Given the description of an element on the screen output the (x, y) to click on. 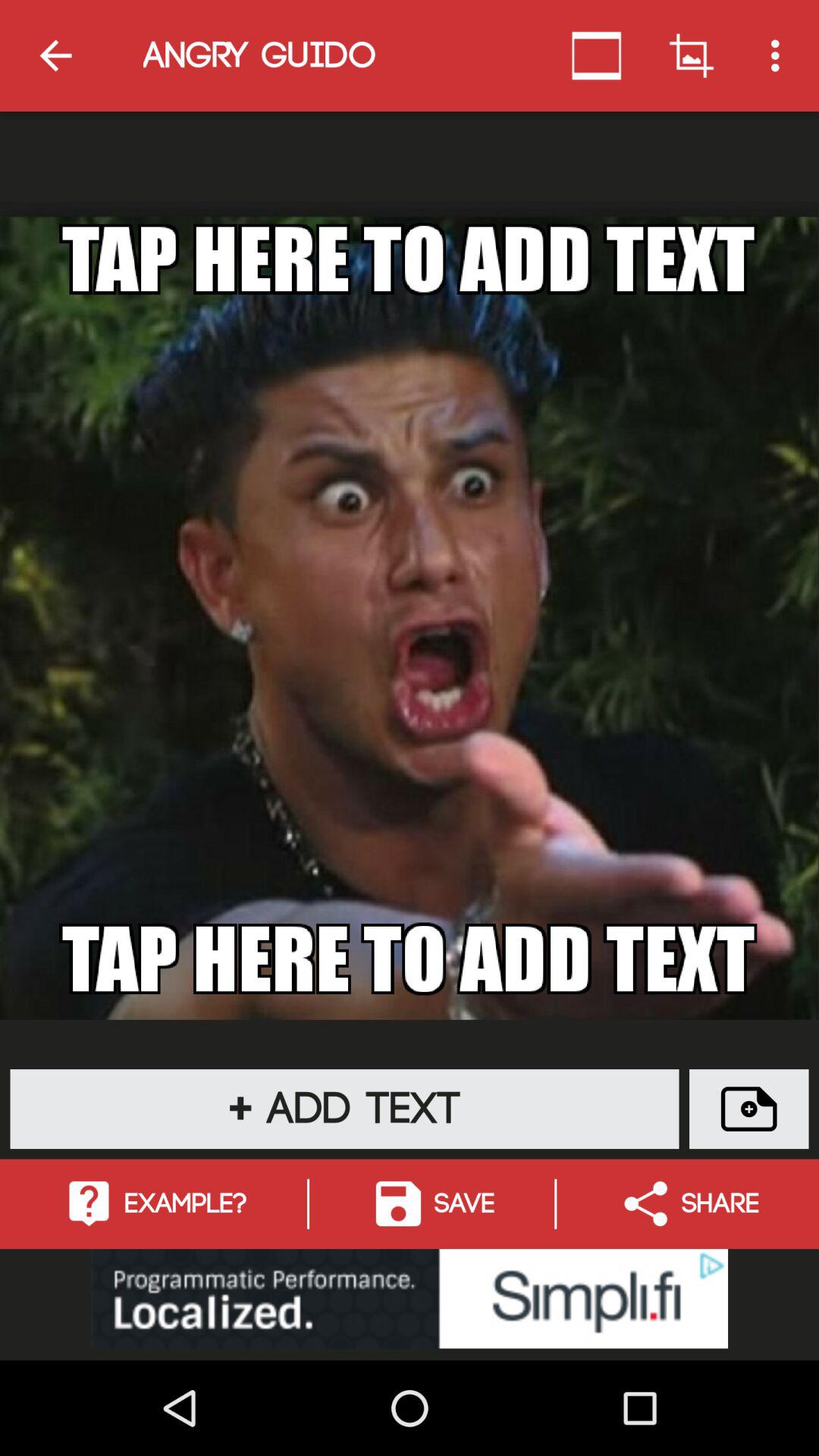
go to advertisements button (409, 1298)
